Given the description of an element on the screen output the (x, y) to click on. 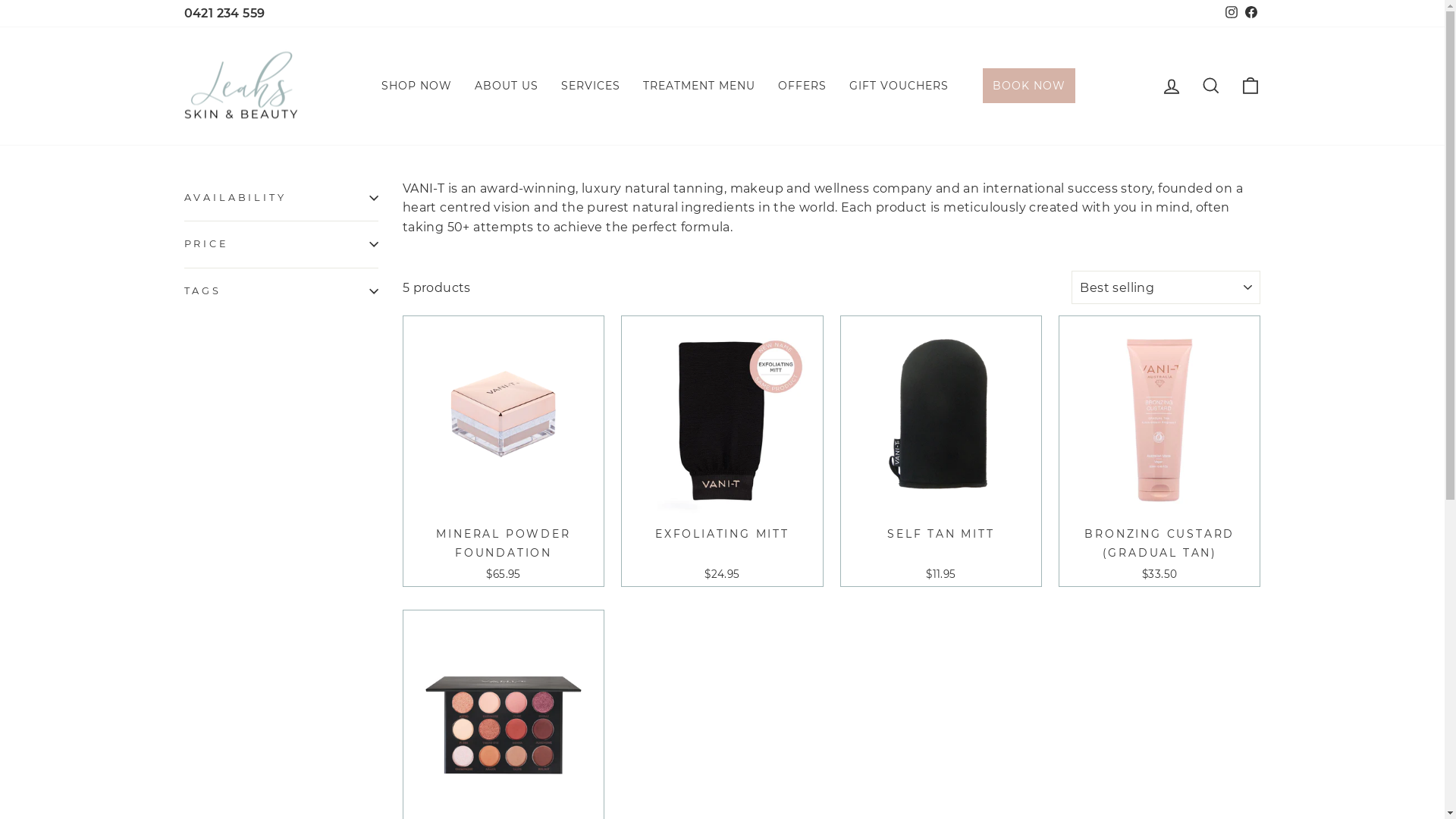
GIFT VOUCHERS Element type: text (898, 85)
BOOK NOW Element type: text (1028, 85)
SEARCH Element type: text (1210, 85)
CART Element type: text (1249, 85)
SHOP NOW Element type: text (416, 85)
TREATMENT MENU Element type: text (697, 85)
BRONZING CUSTARD (GRADUAL TAN)
$33.50 Element type: text (1159, 451)
OFFERS Element type: text (801, 85)
Instagram Element type: text (1230, 13)
Skip to content Element type: text (0, 0)
0421 234 559 Element type: text (223, 13)
EXFOLIATING MITT
$24.95 Element type: text (721, 451)
PRICE Element type: text (280, 244)
AVAILABILITY Element type: text (280, 197)
Facebook Element type: text (1250, 13)
SERVICES Element type: text (589, 85)
TAGS Element type: text (280, 291)
ABOUT US Element type: text (505, 85)
MINERAL POWDER FOUNDATION
$65.95 Element type: text (503, 451)
SELF TAN MITT
$11.95 Element type: text (940, 451)
LOG IN Element type: text (1170, 85)
